Given the description of an element on the screen output the (x, y) to click on. 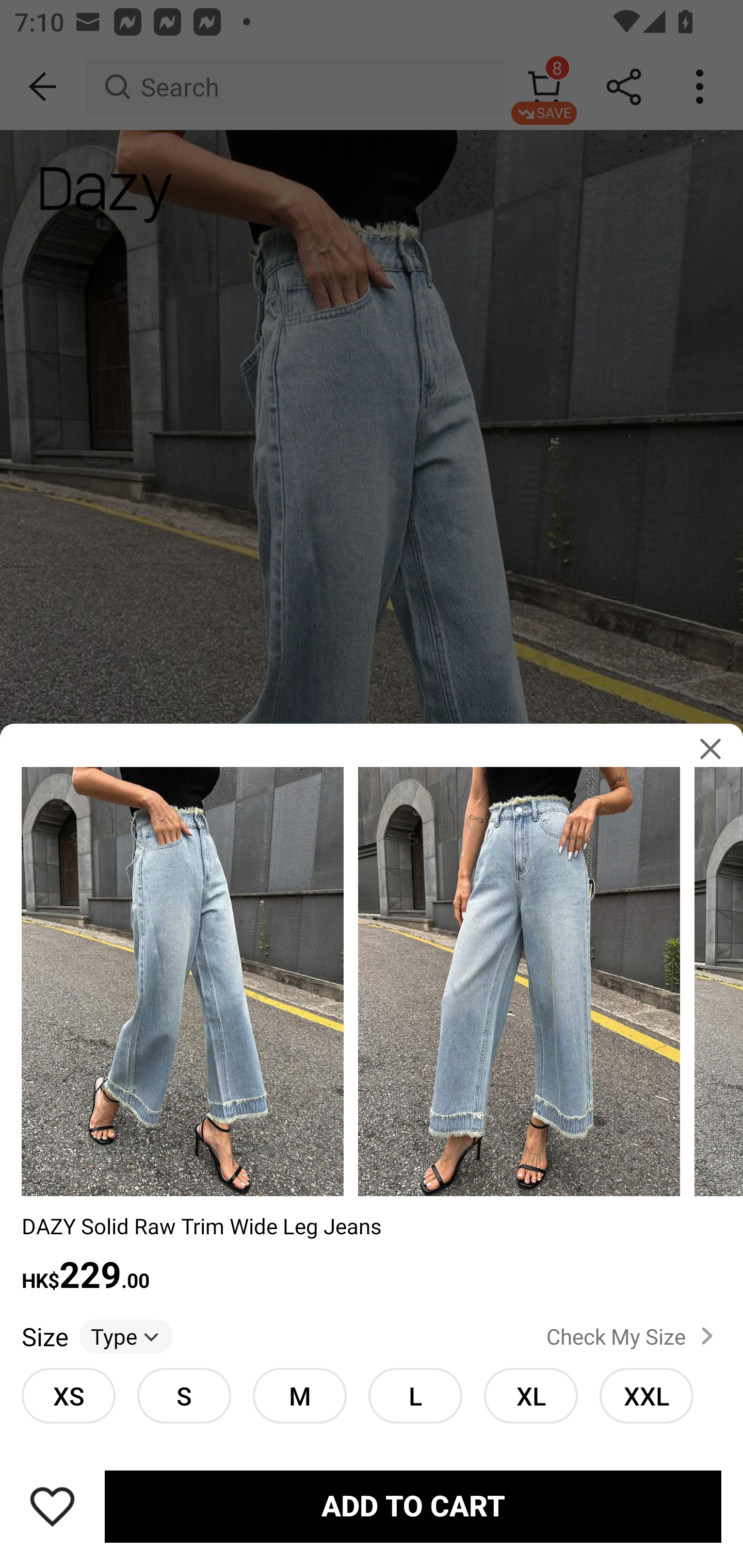
Size (44, 1335)
Type (126, 1335)
Check My Size (633, 1336)
XS unselected option (68, 1395)
S unselected option (184, 1395)
M unselected option (299, 1395)
L unselected option (415, 1395)
XL unselected option (530, 1395)
XXL unselected option (646, 1395)
ADD TO CART (412, 1506)
Save (52, 1505)
